Given the description of an element on the screen output the (x, y) to click on. 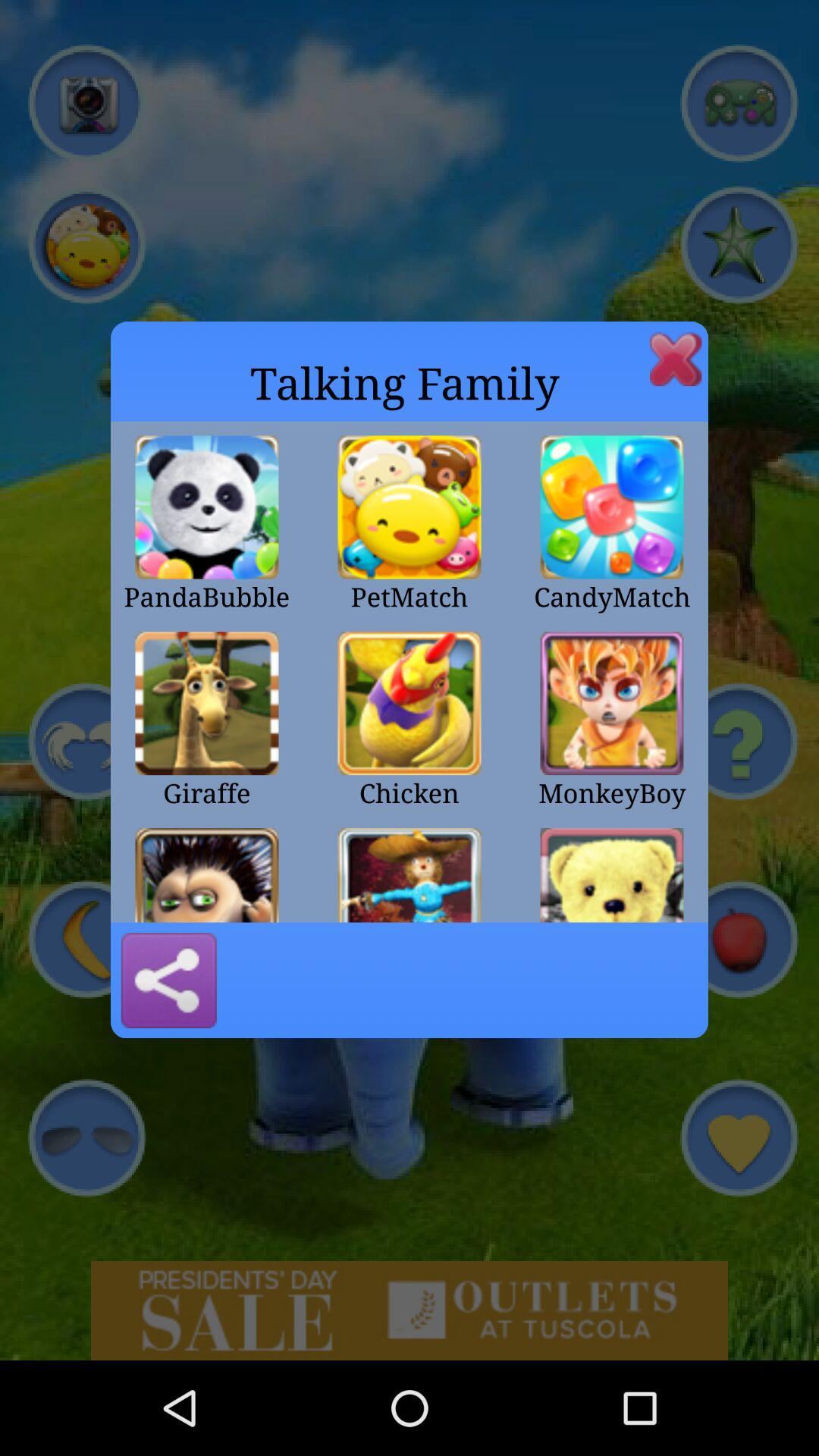
share the article (168, 980)
